Given the description of an element on the screen output the (x, y) to click on. 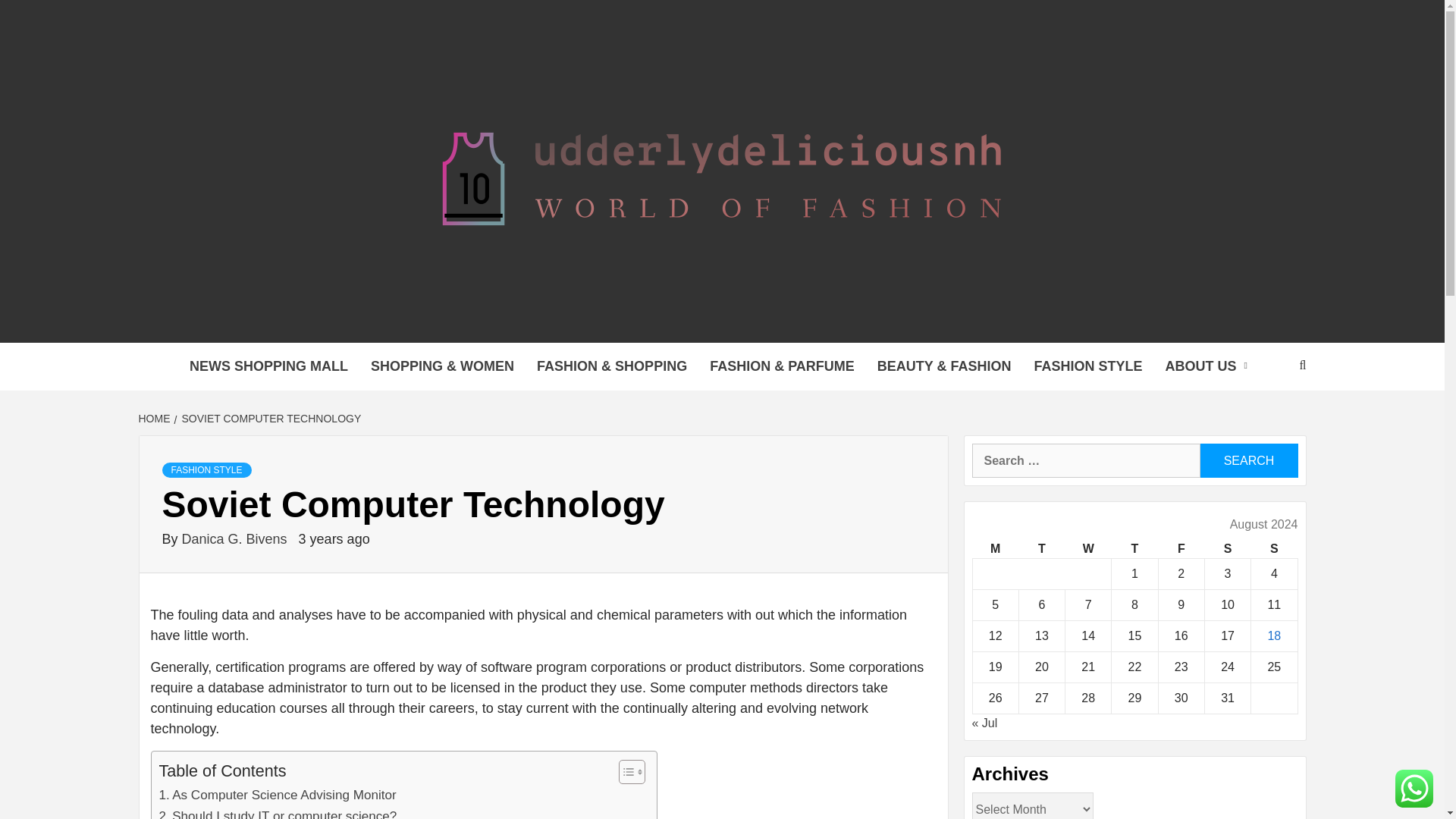
ABOUT US (1210, 366)
Should I study IT or computer science? (277, 812)
Search (1248, 460)
Saturday (1227, 548)
Sunday (1273, 548)
NEWS SHOPPING MALL (268, 366)
Monday (994, 548)
FASHION STYLE (1087, 366)
UDDERLYDELICIOUSNH (582, 323)
Search (1248, 460)
